Given the description of an element on the screen output the (x, y) to click on. 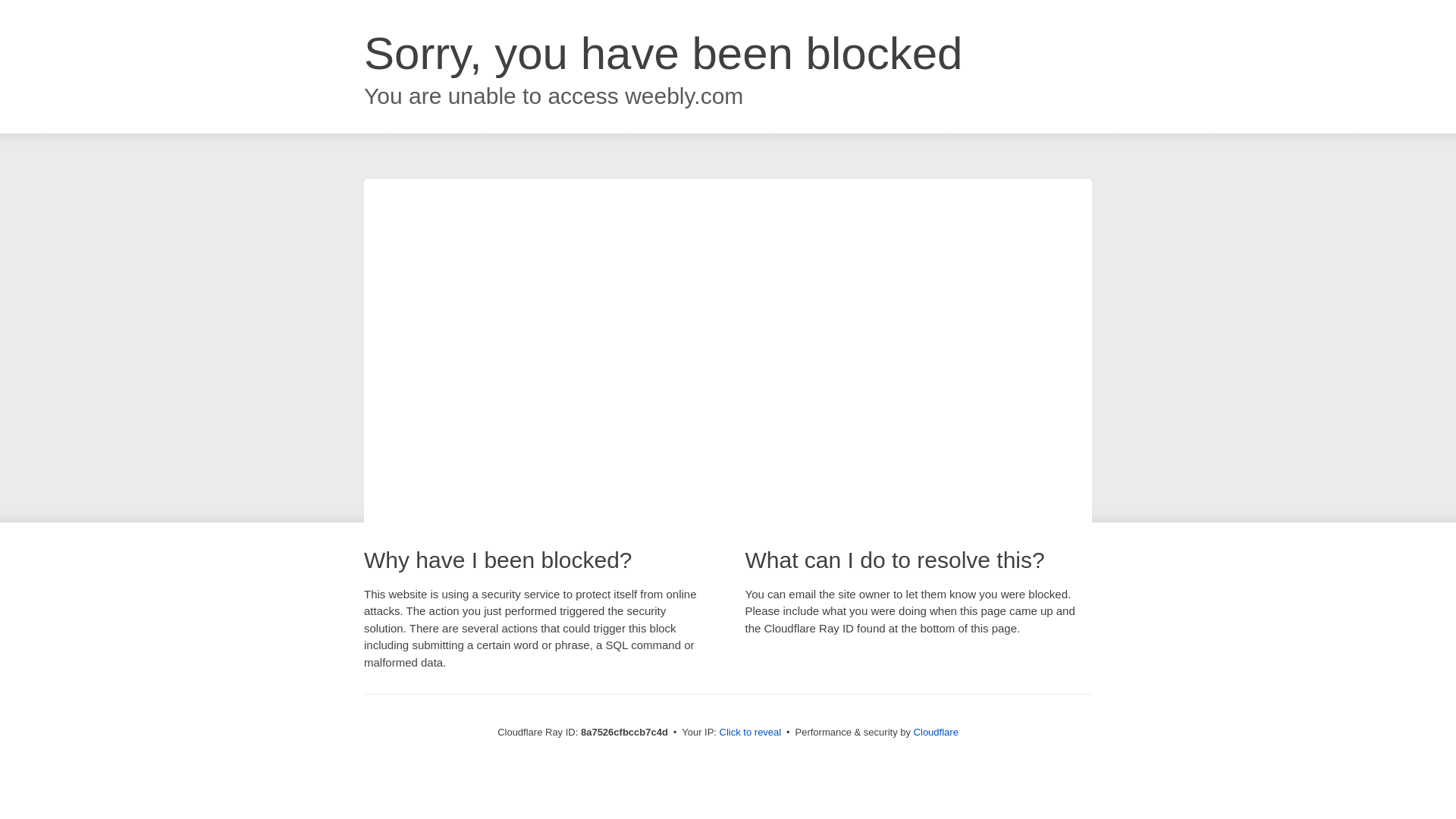
Click to reveal (750, 732)
Cloudflare (936, 731)
